Given the description of an element on the screen output the (x, y) to click on. 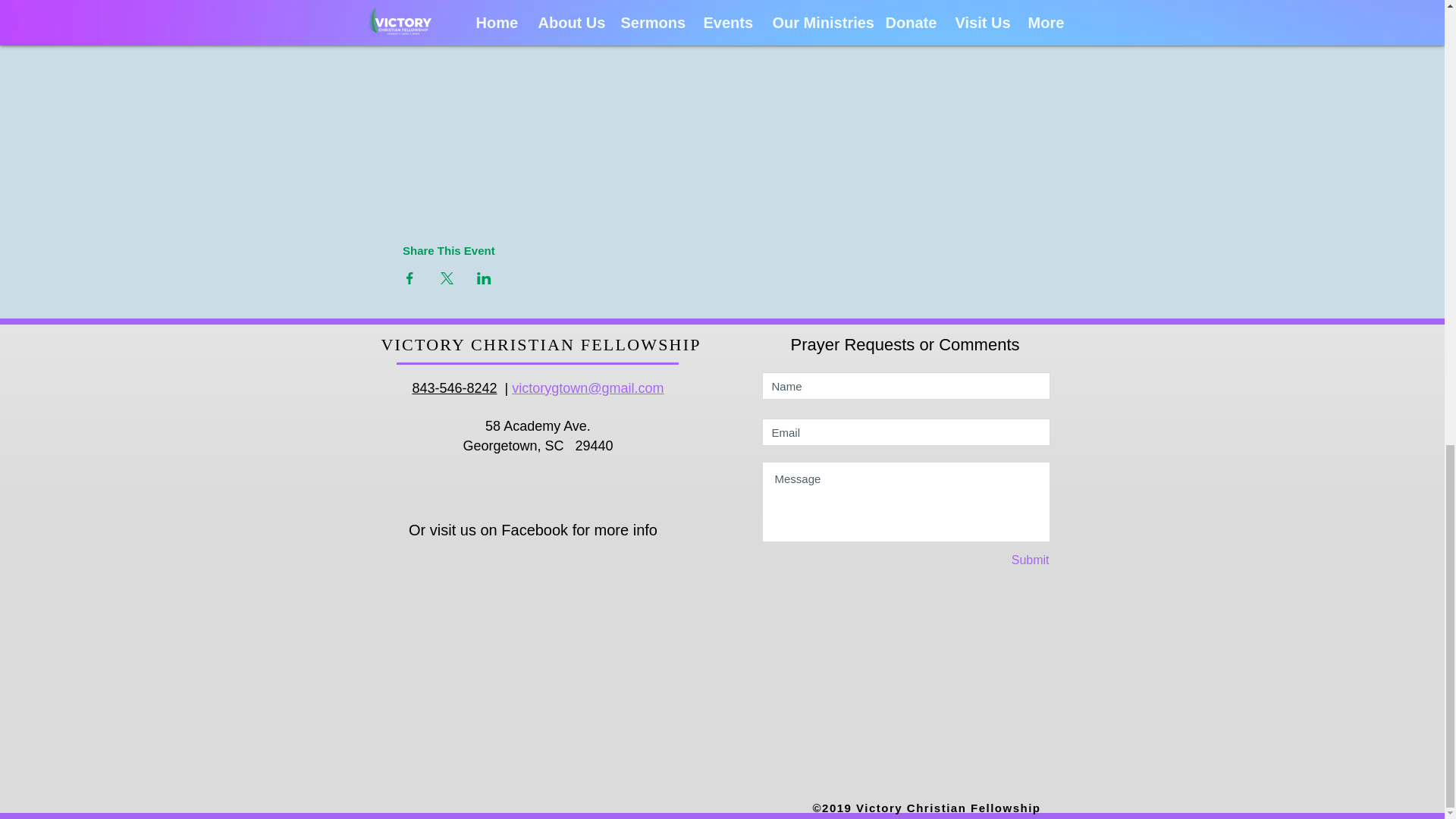
Facebook Like (542, 563)
843-546-8242 (454, 387)
Submit (995, 560)
victorygt (537, 387)
